Given the description of an element on the screen output the (x, y) to click on. 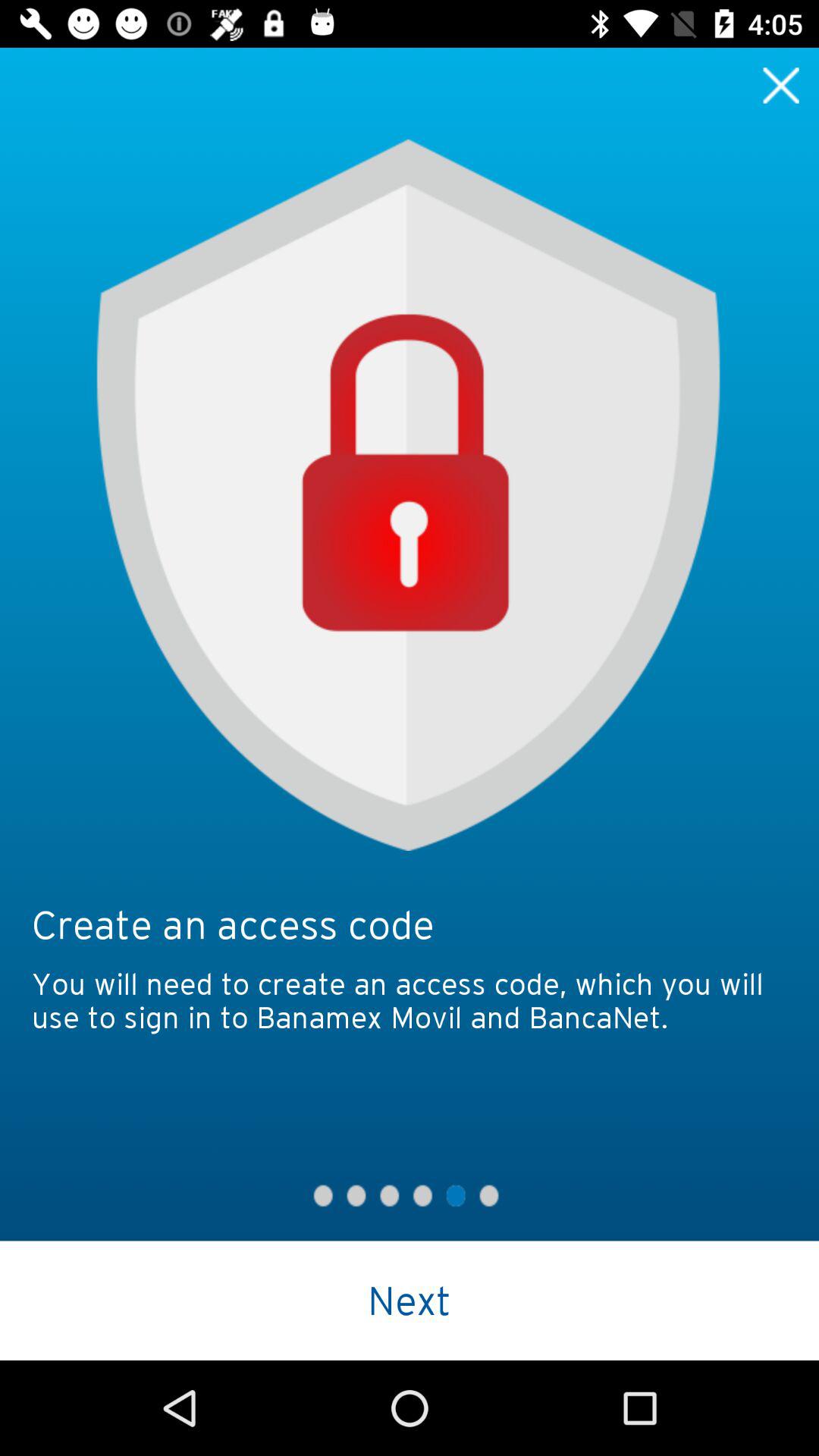
close app (781, 85)
